Given the description of an element on the screen output the (x, y) to click on. 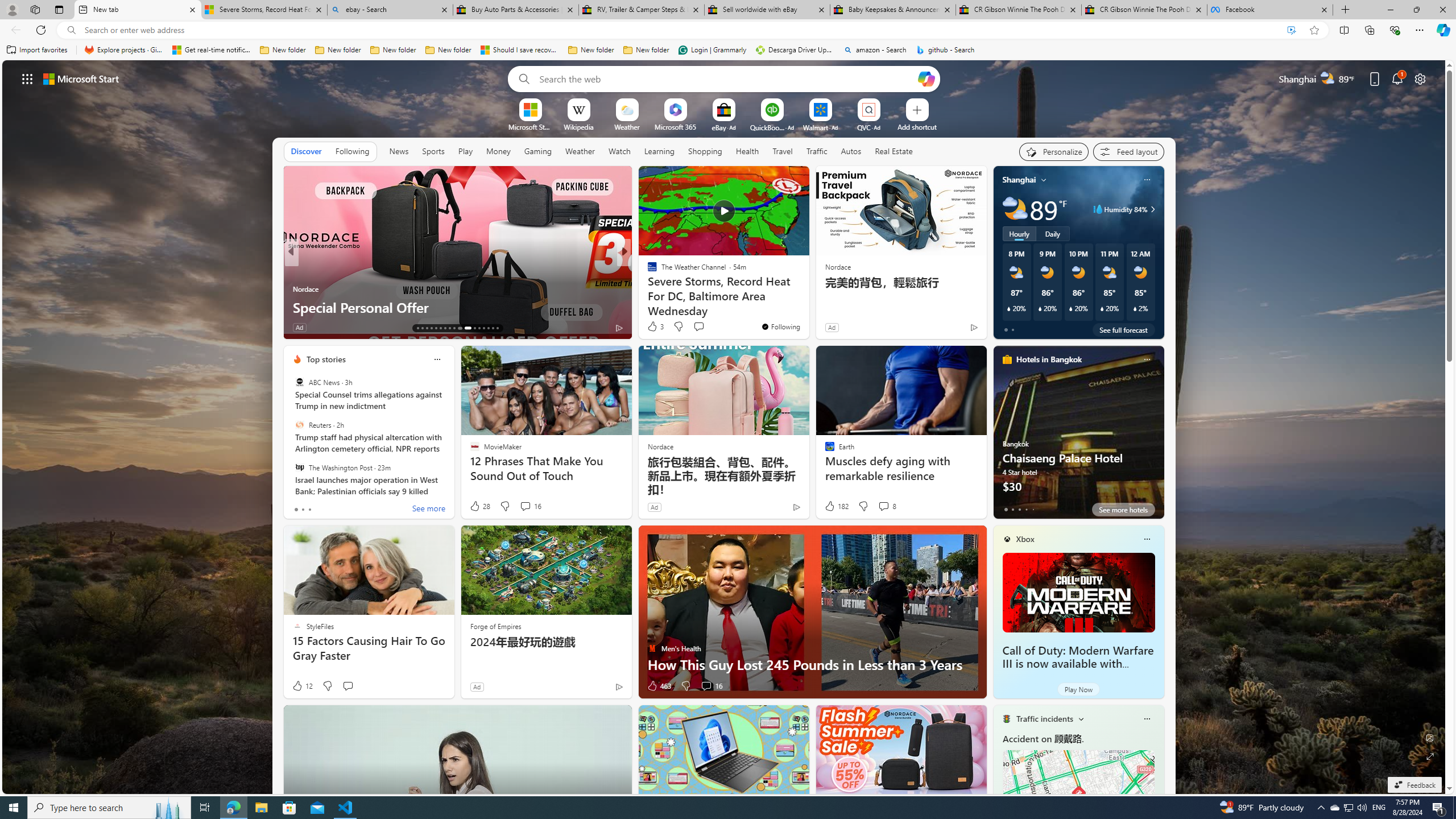
Play (465, 151)
Feedback (1414, 784)
View comments 16 Comment (705, 685)
Browser essentials (1394, 29)
Las Vegas Strip visitors face outrageous new fee (807, 307)
tab-3 (1025, 509)
Edit Background (1430, 737)
AutomationID: tab-19 (444, 328)
View comments 167 Comment (703, 327)
Money (497, 151)
Import favorites (36, 49)
Class: weather-current-precipitation-glyph (1134, 308)
Ad (476, 686)
